Given the description of an element on the screen output the (x, y) to click on. 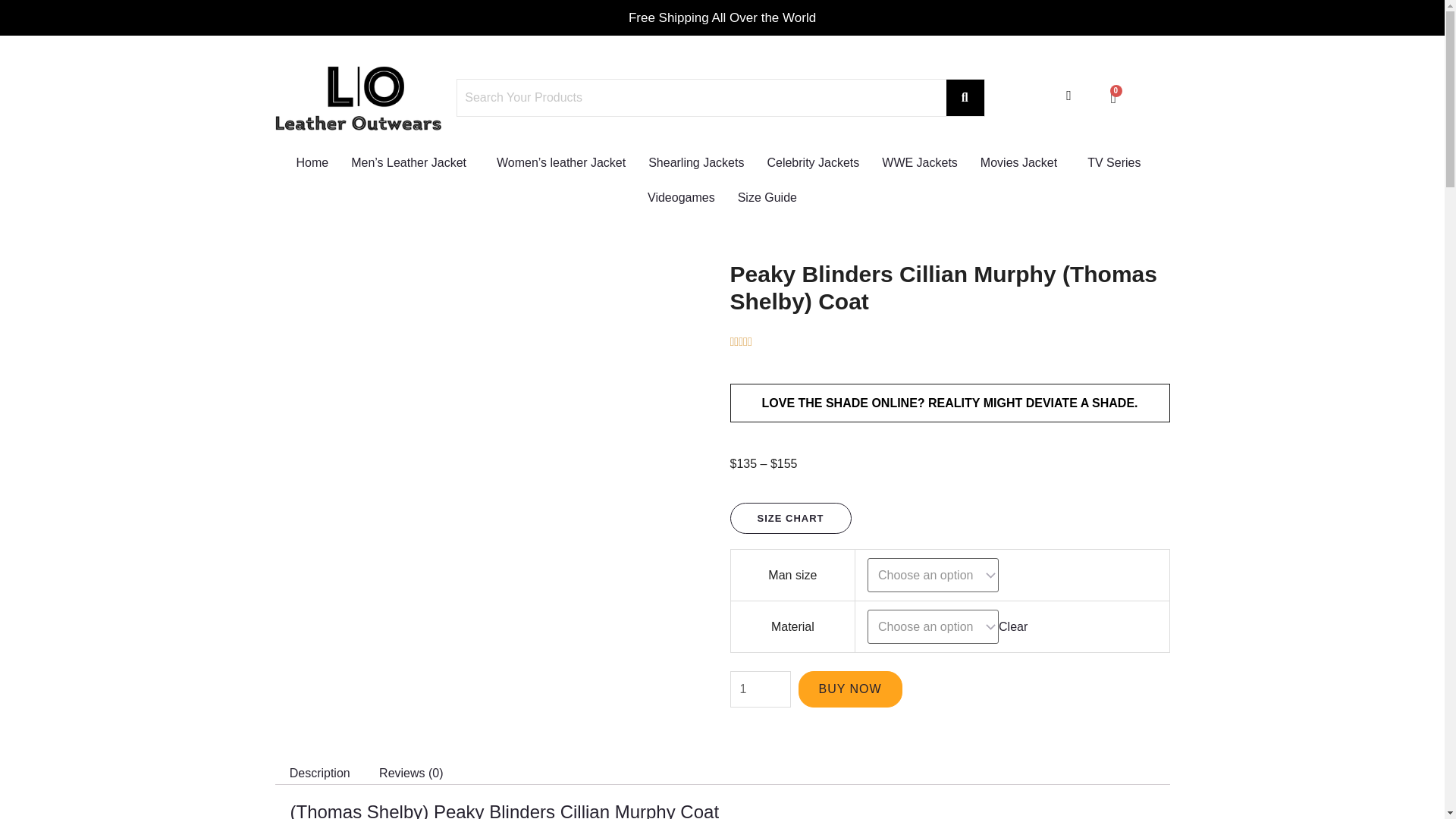
TV Series (1116, 162)
Home (312, 162)
Size Guide (1113, 97)
Celebrity Jackets (767, 197)
1 (812, 162)
Videogames (759, 688)
Movies Jacket (681, 197)
Search (1022, 162)
WWE Jackets (700, 97)
Shearling Jackets (919, 162)
